Given the description of an element on the screen output the (x, y) to click on. 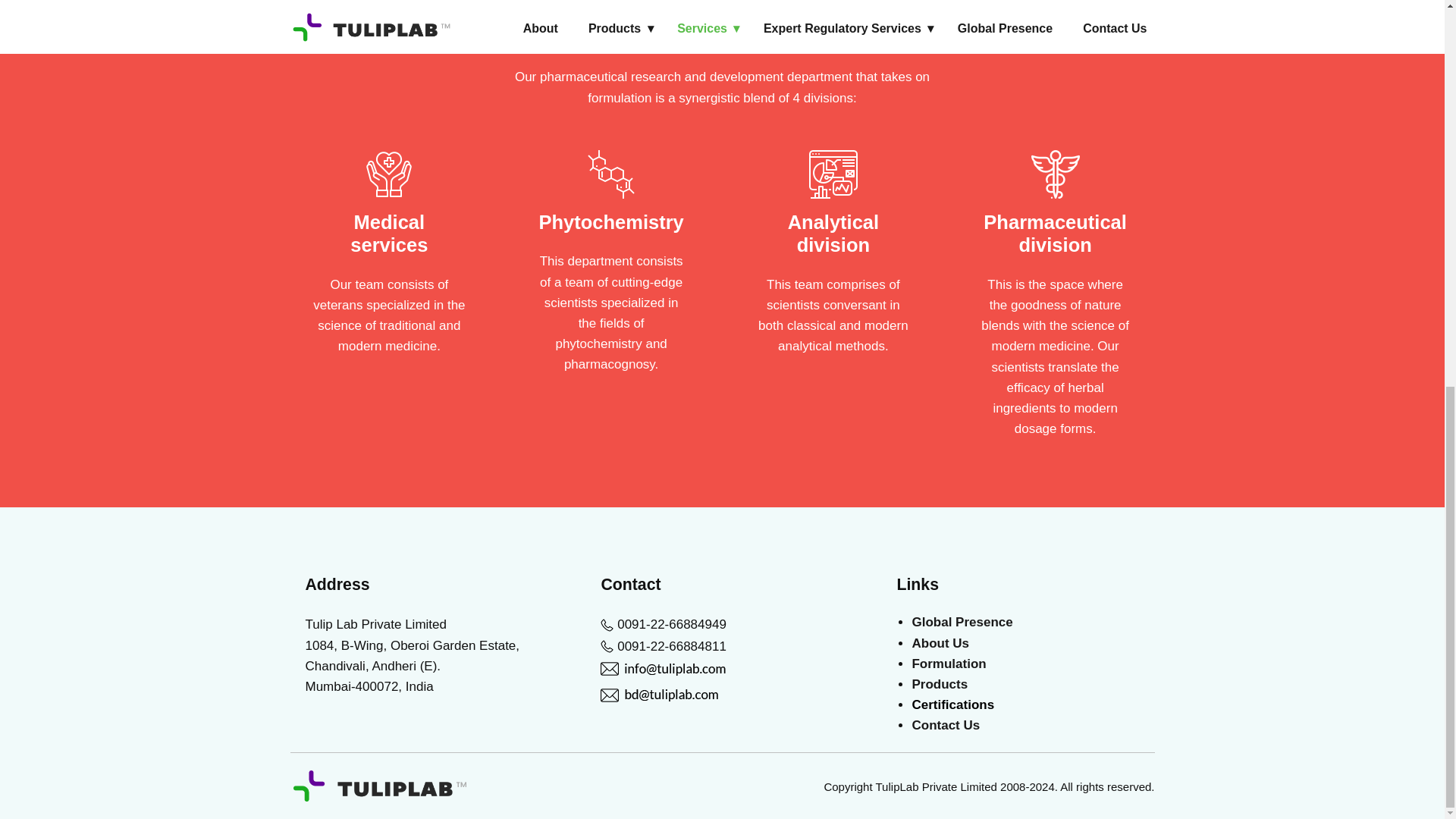
Welcome to Tuliplab! (378, 785)
